Given the description of an element on the screen output the (x, y) to click on. 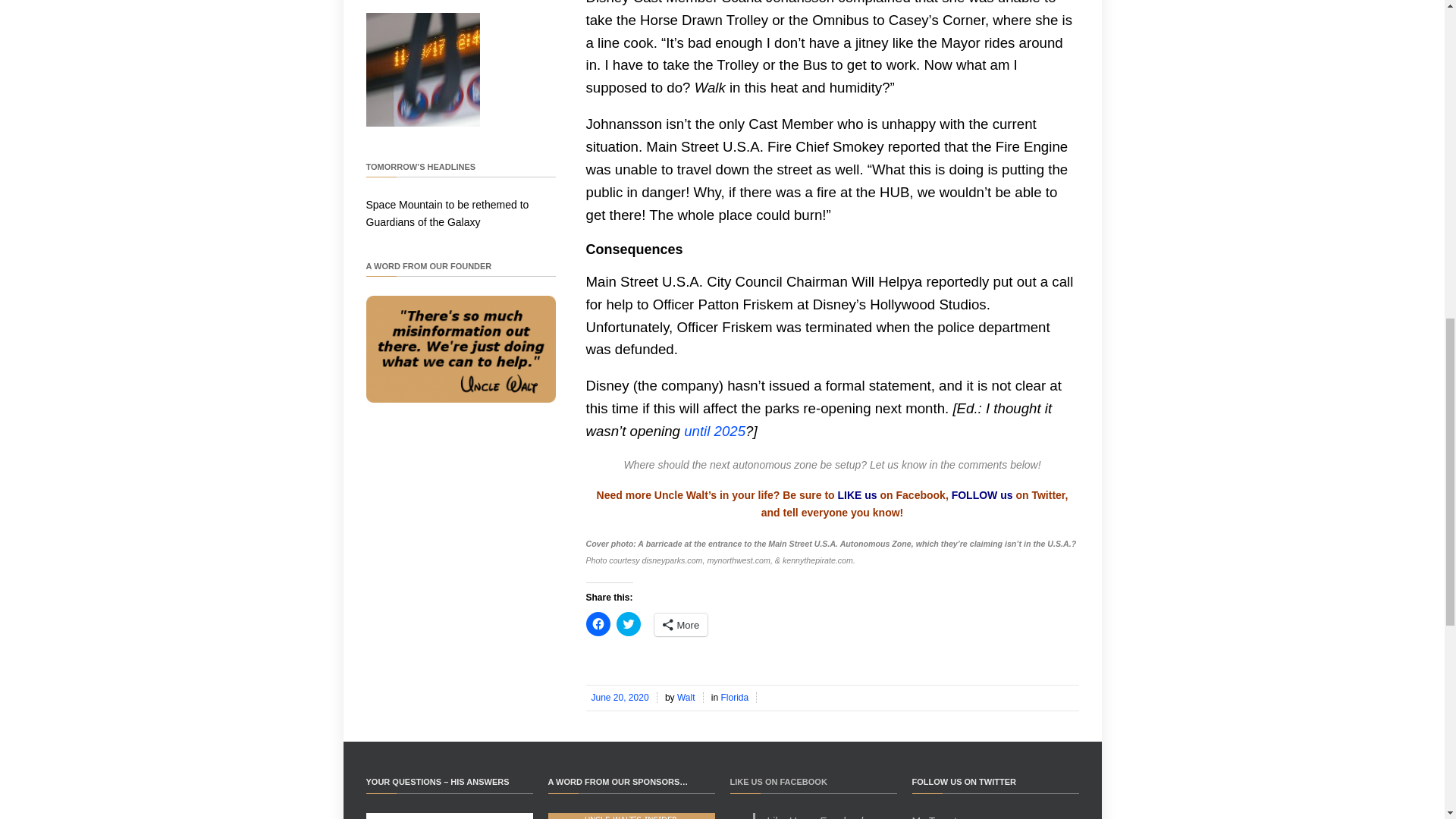
FOLLOW us (982, 494)
Walt (687, 697)
June 20, 2020 (620, 697)
Click to share on Twitter (627, 623)
More (680, 624)
Florida (735, 697)
LIKE US ON FACEBOOK (778, 781)
Click to share on Facebook (597, 623)
A word from our sponsors... (630, 816)
LIKE us (857, 494)
